Given the description of an element on the screen output the (x, y) to click on. 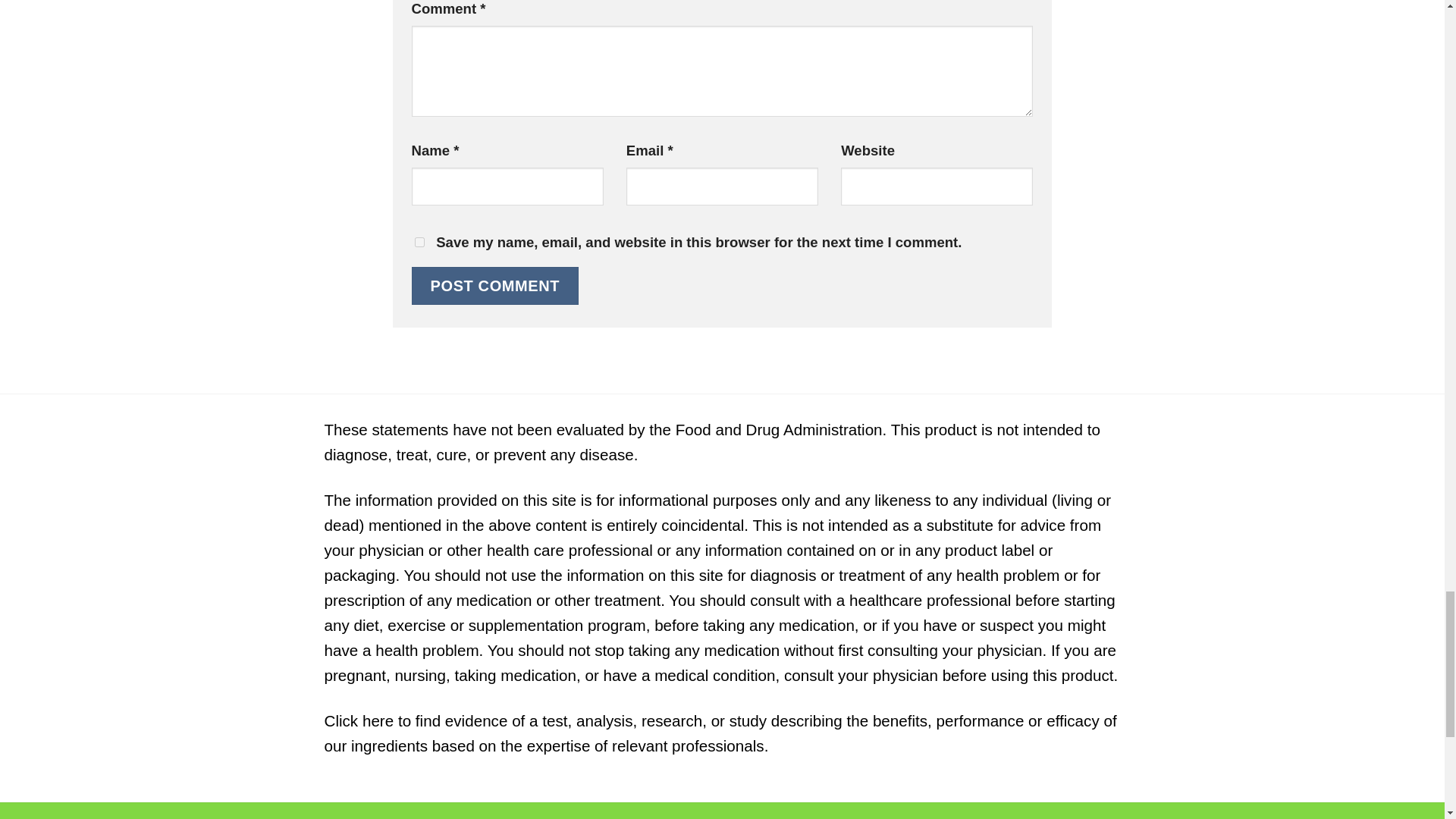
Post Comment (494, 285)
Post Comment (494, 285)
yes (418, 242)
